Given the description of an element on the screen output the (x, y) to click on. 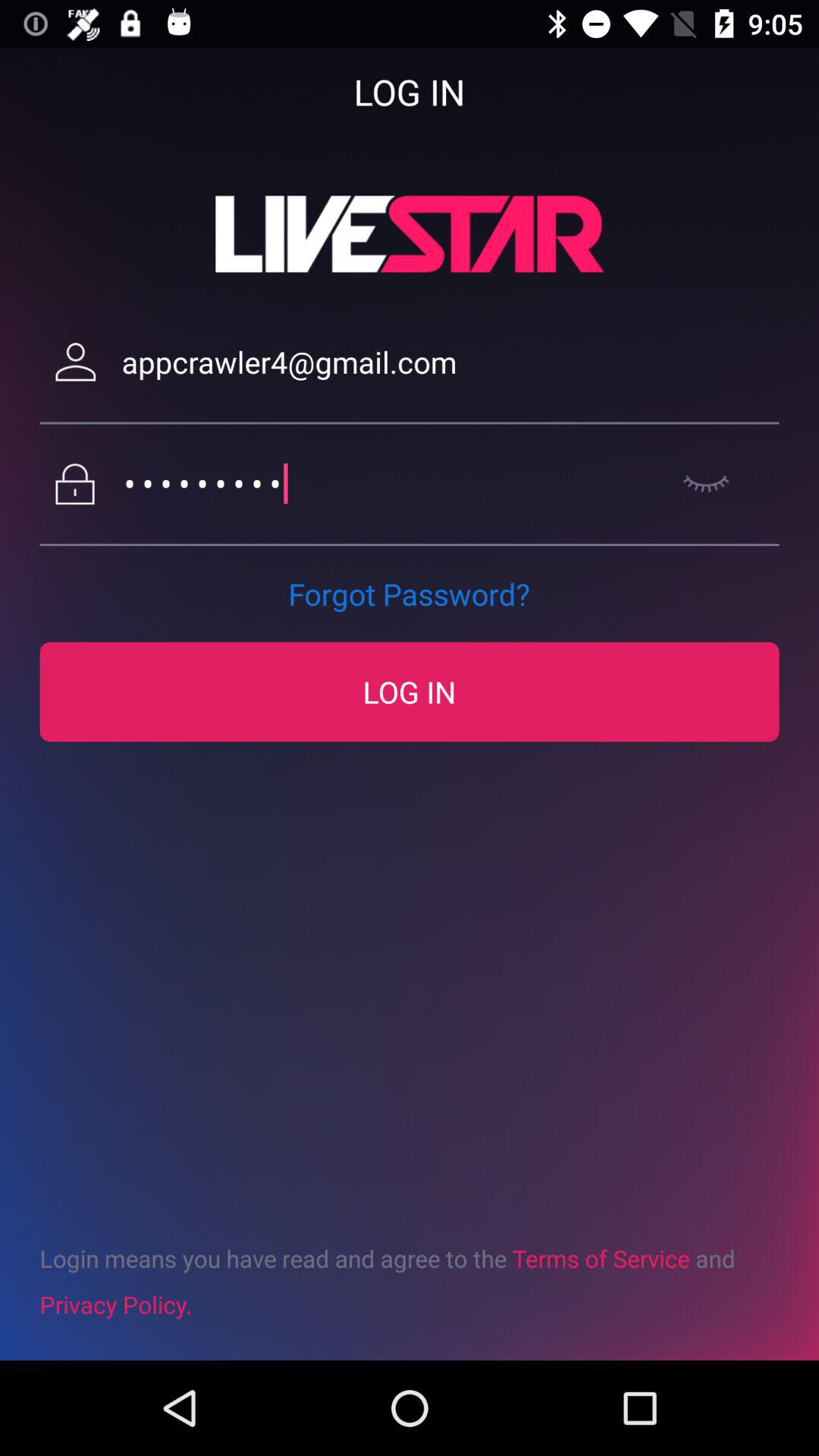
click the icon below the log in icon (409, 1281)
